Given the description of an element on the screen output the (x, y) to click on. 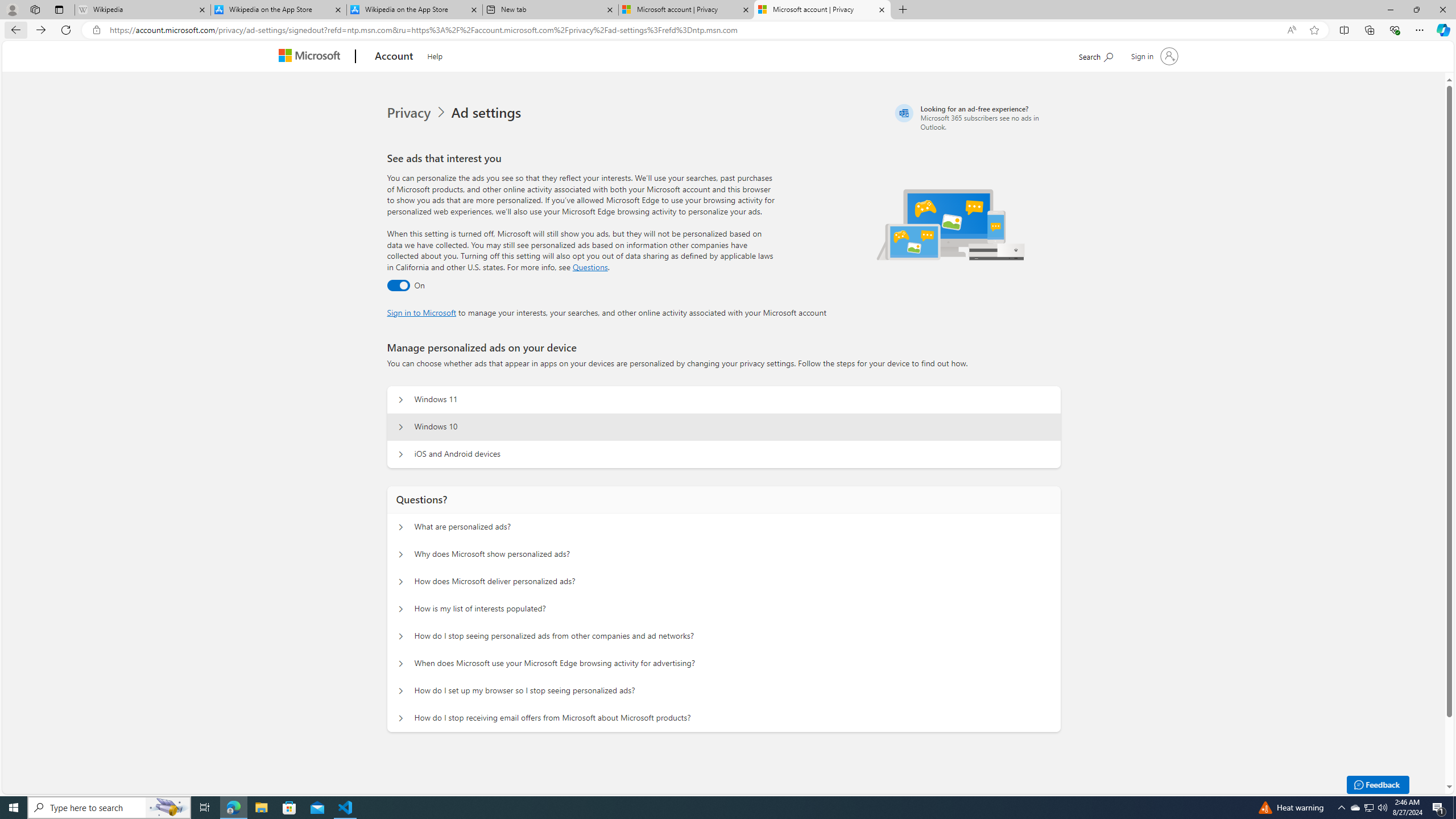
Microsoft (311, 56)
Manage personalized ads on your device Windows 10 (401, 427)
Questions? How is my list of interests populated? (401, 608)
New Tab (903, 9)
Ad settings toggle (398, 285)
App bar (728, 29)
Refresh (66, 29)
Wikipedia - Sleeping (142, 9)
Questions? Why does Microsoft show personalized ads? (401, 554)
Questions? What are personalized ads? (401, 526)
Collections (1369, 29)
Minimize (1390, 9)
Looking for an ad-free experience? (976, 117)
